Given the description of an element on the screen output the (x, y) to click on. 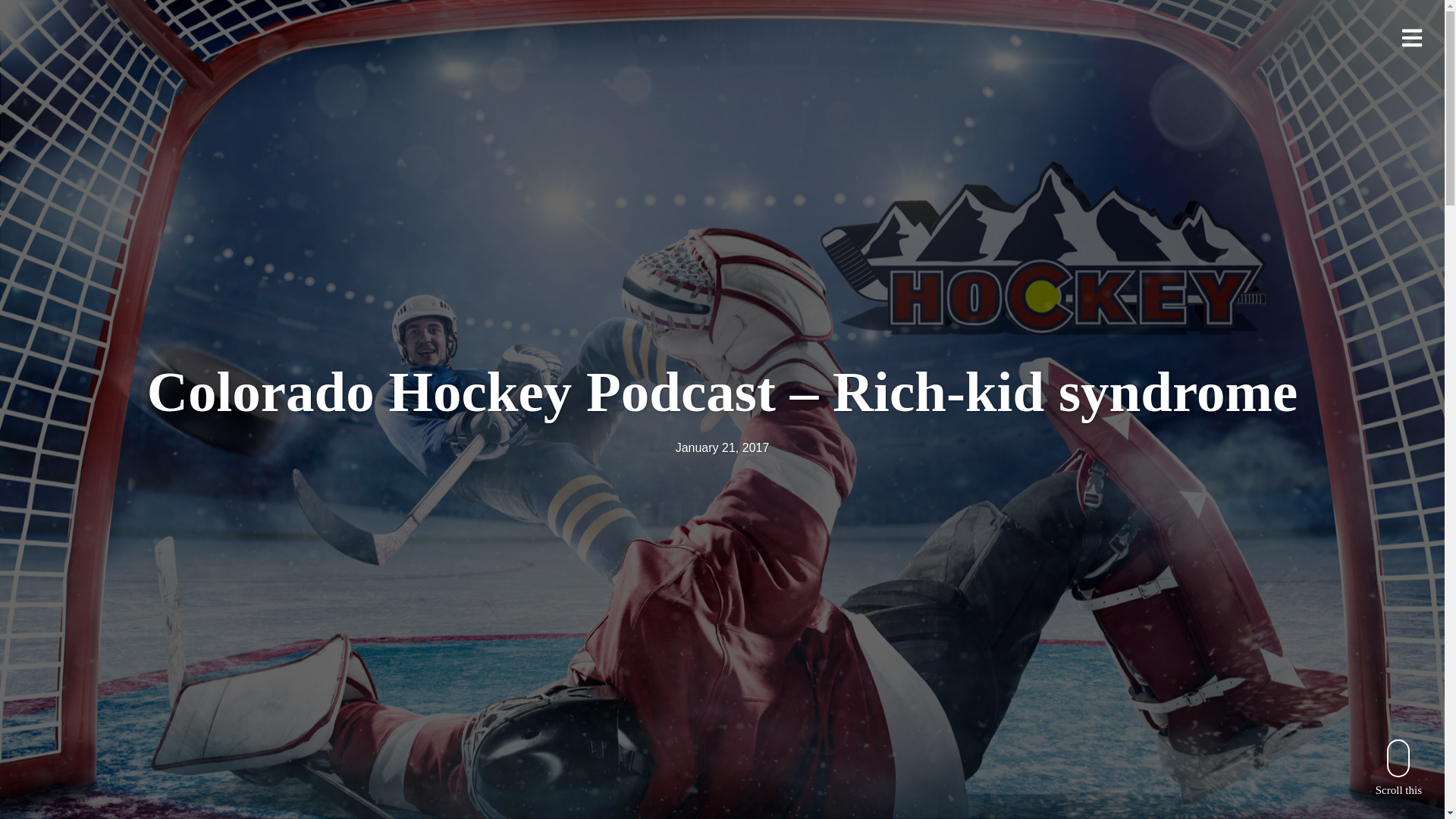
Scroll this (1398, 767)
4:01 pm (722, 447)
January 21, 2017 (722, 447)
Home (115, 78)
